Given the description of an element on the screen output the (x, y) to click on. 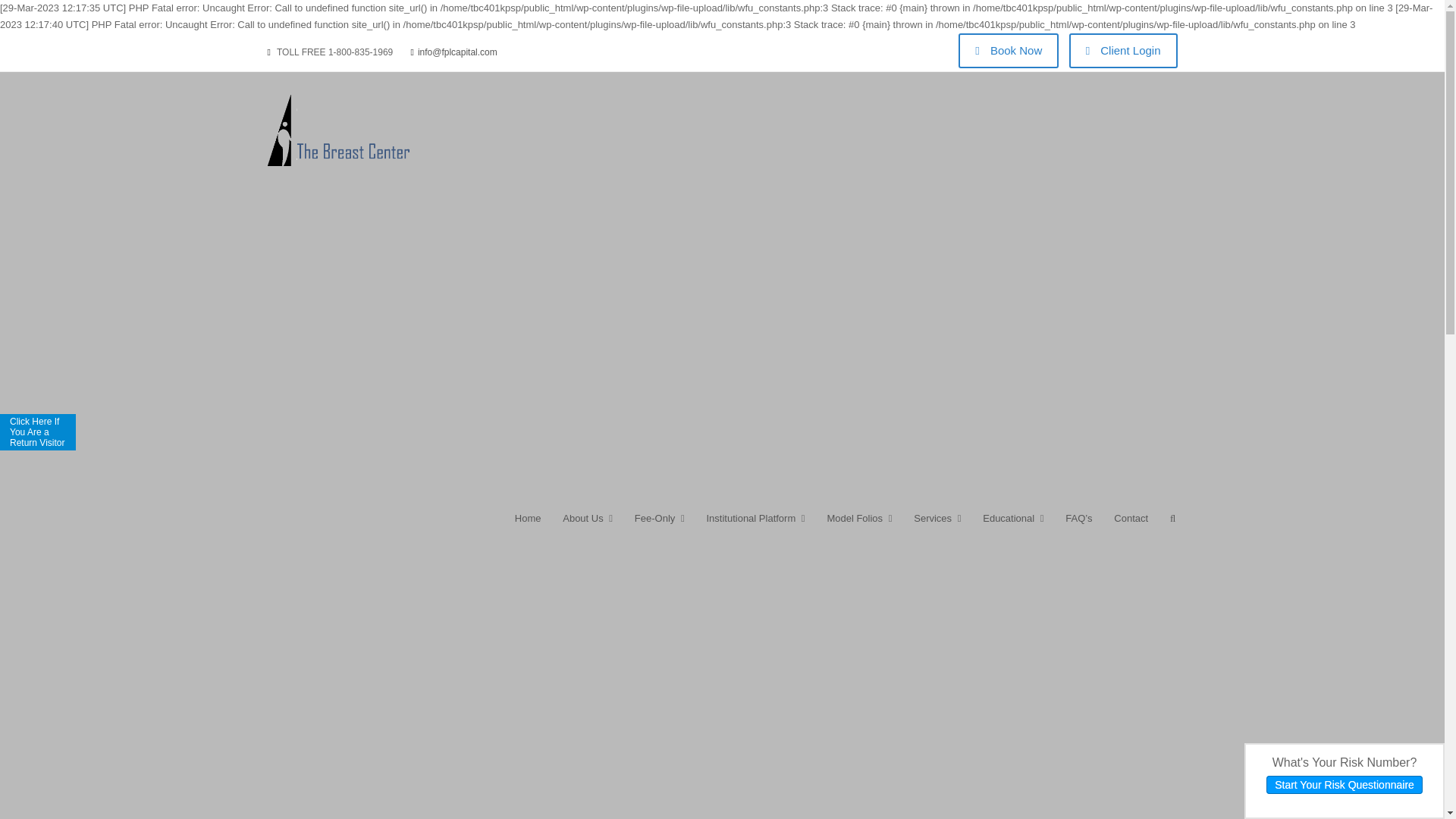
About Us (587, 526)
Institutional Platform (755, 526)
Model Folios (858, 526)
Fee-Only (659, 526)
Client Login (1122, 50)
Book Now (1008, 50)
Home (527, 526)
